Given the description of an element on the screen output the (x, y) to click on. 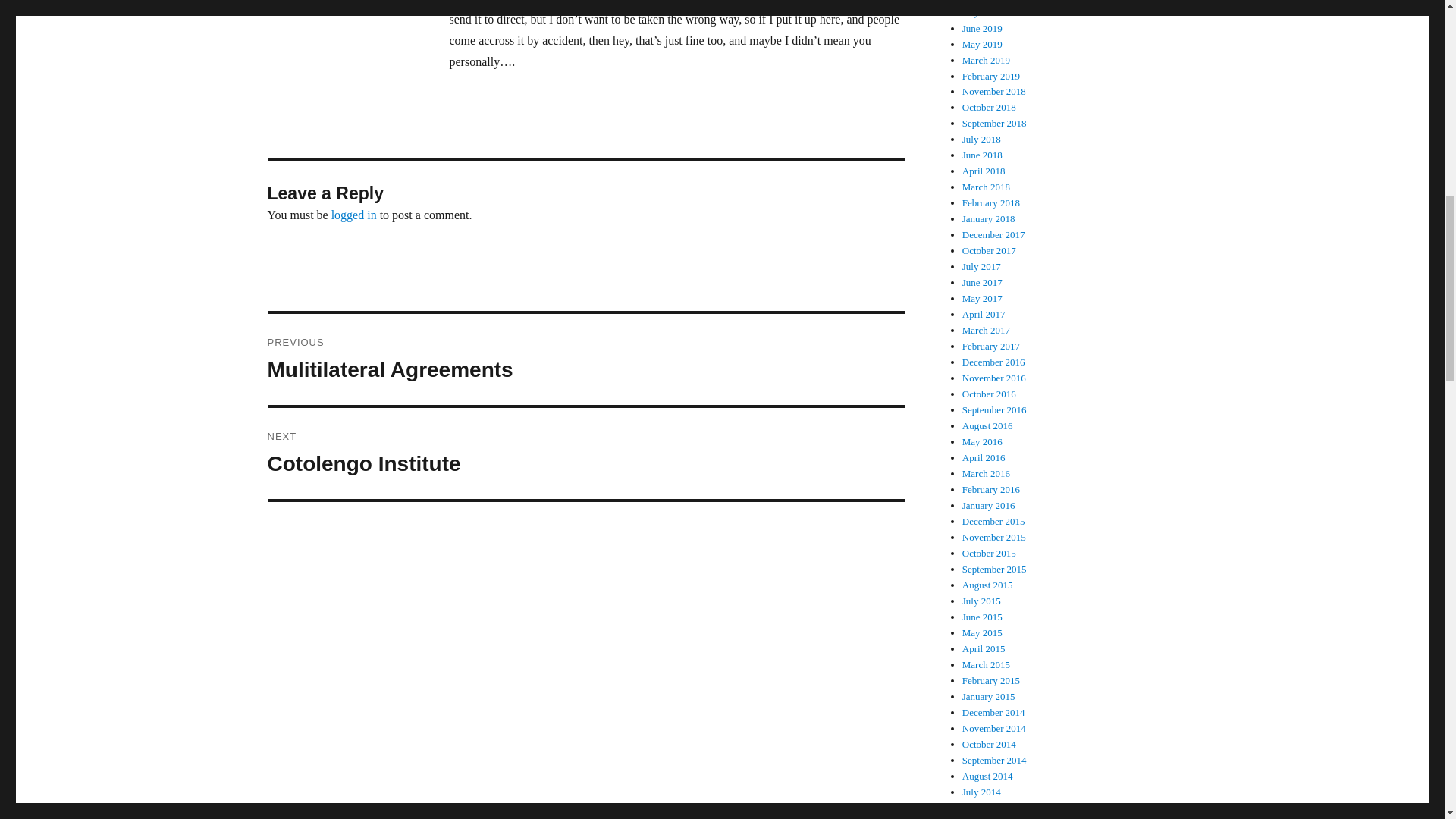
October 2018 (989, 107)
May 2019 (982, 43)
February 2019 (585, 452)
June 2019 (991, 75)
July 2019 (982, 28)
logged in (981, 12)
March 2018 (354, 214)
March 2019 (986, 186)
